Given the description of an element on the screen output the (x, y) to click on. 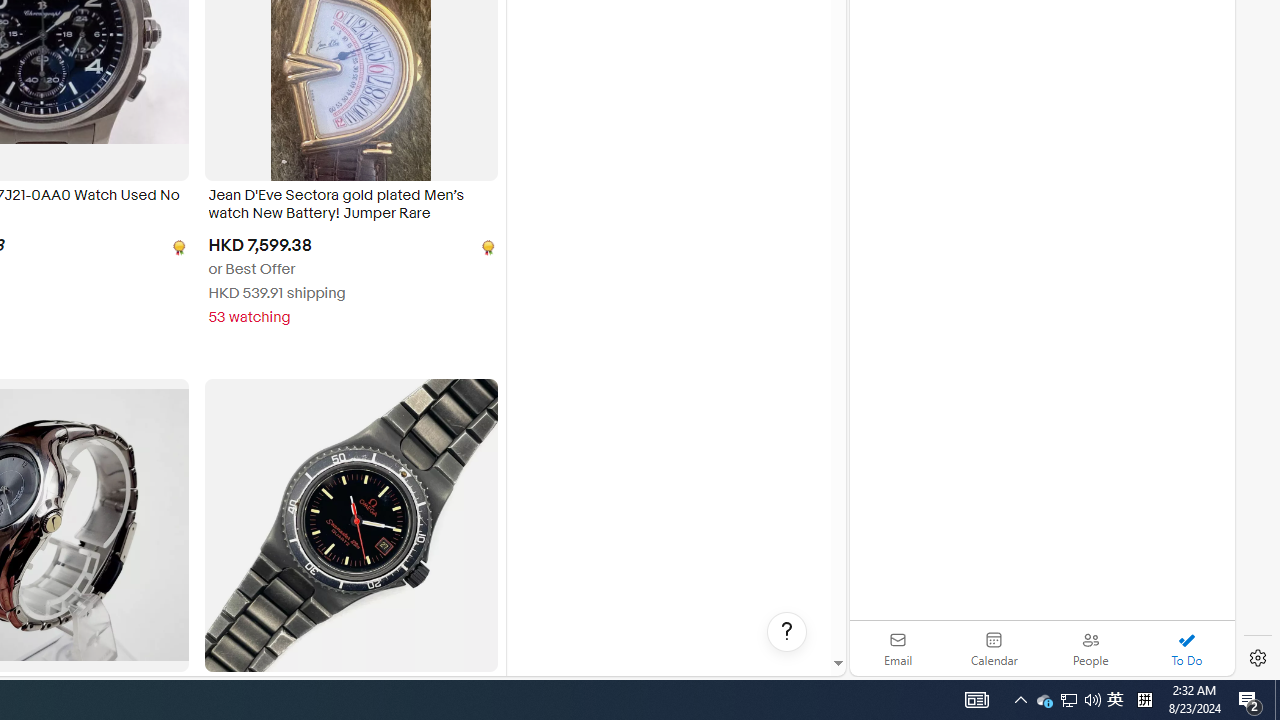
[object Undefined] (486, 246)
Email (898, 648)
Calendar. Date today is 22 (994, 648)
People (1090, 648)
Help, opens dialogs (787, 632)
To Do (1186, 648)
